Given the description of an element on the screen output the (x, y) to click on. 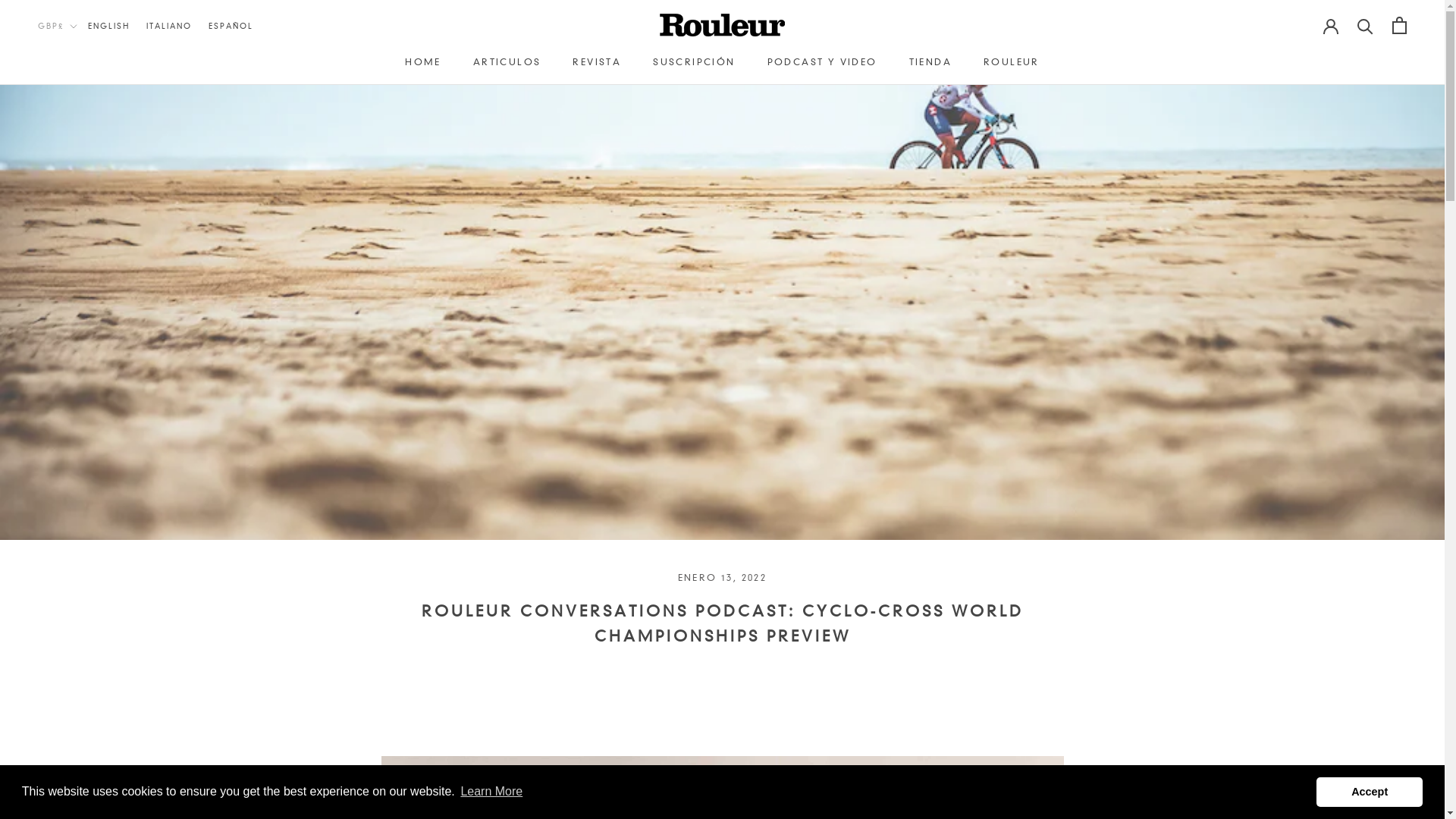
DZD Element type: text (85, 620)
GMD Element type: text (85, 761)
EUR Element type: text (85, 681)
GTQ Element type: text (85, 801)
TIENDA Element type: text (930, 61)
BIF Element type: text (85, 298)
CVE Element type: text (85, 520)
CAD Element type: text (85, 419)
BND Element type: text (85, 319)
AED Element type: text (85, 57)
BBD Element type: text (85, 239)
DJF Element type: text (85, 560)
CHF Element type: text (85, 459)
EGP Element type: text (85, 640)
AWG Element type: text (85, 178)
PODCAST Y VIDEO Element type: text (822, 61)
BZD Element type: text (85, 399)
BAM Element type: text (85, 218)
AUD Element type: text (85, 158)
DKK Element type: text (85, 580)
BDT Element type: text (85, 258)
HOME
HOME Element type: text (422, 61)
ITALIANO Element type: text (175, 25)
ARTICULOS Element type: text (507, 61)
AFN Element type: text (85, 78)
AMD Element type: text (85, 118)
CZK Element type: text (85, 540)
CRC Element type: text (85, 499)
ENGLISH Element type: text (115, 25)
CDF Element type: text (85, 439)
DOP Element type: text (85, 600)
CNY Element type: text (85, 480)
ETB Element type: text (85, 660)
ROULEUR Element type: text (1011, 61)
FKP Element type: text (85, 721)
AZN Element type: text (85, 198)
BWP Element type: text (85, 379)
BGN Element type: text (85, 279)
BOB Element type: text (85, 339)
ANG Element type: text (85, 138)
FJD Element type: text (85, 700)
REVISTA Element type: text (596, 61)
GBP Element type: text (85, 741)
BSD Element type: text (85, 359)
ALL Element type: text (85, 97)
GNF Element type: text (85, 781)
